Given the description of an element on the screen output the (x, y) to click on. 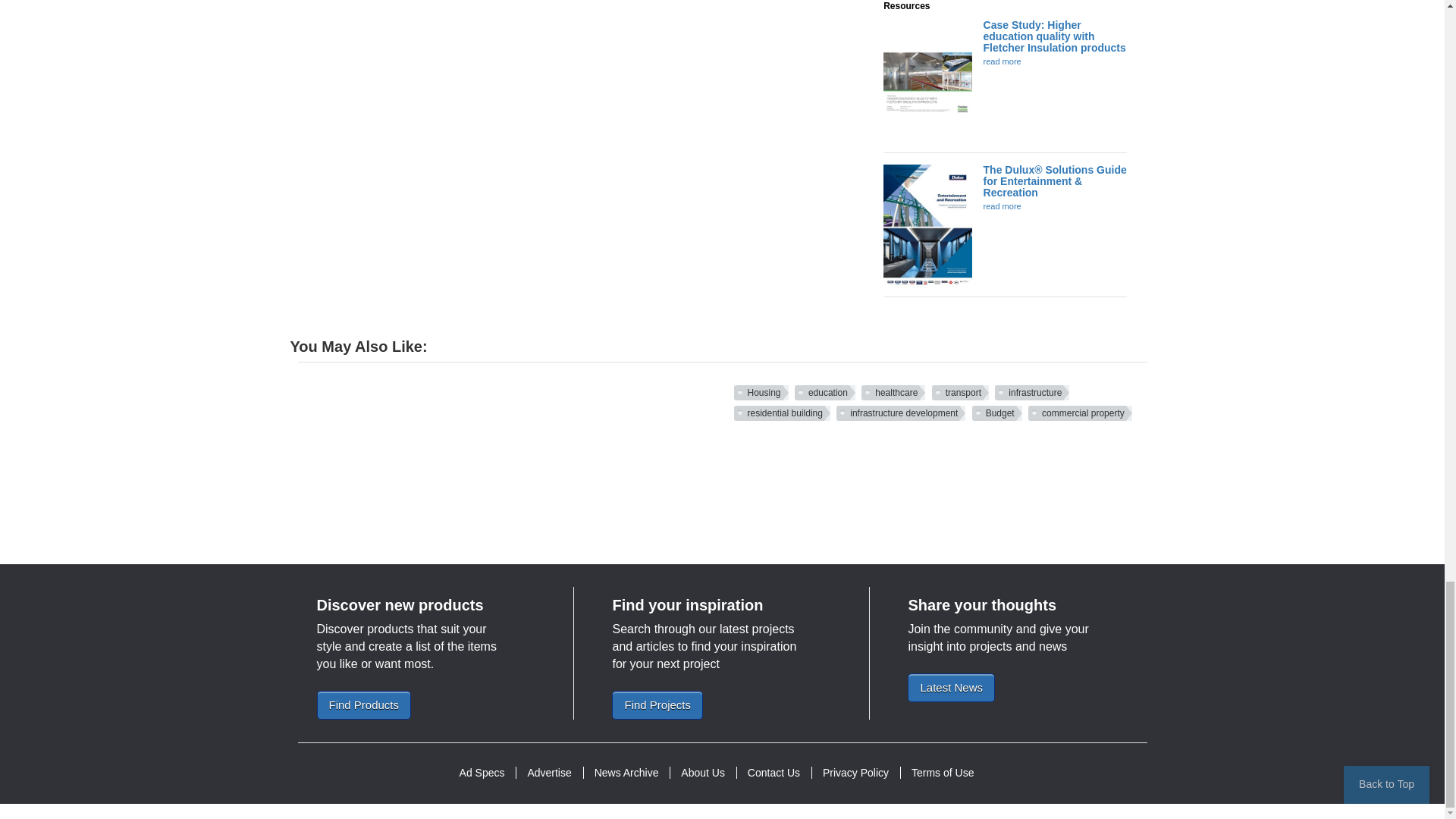
3rd party ad content (721, 482)
